Given the description of an element on the screen output the (x, y) to click on. 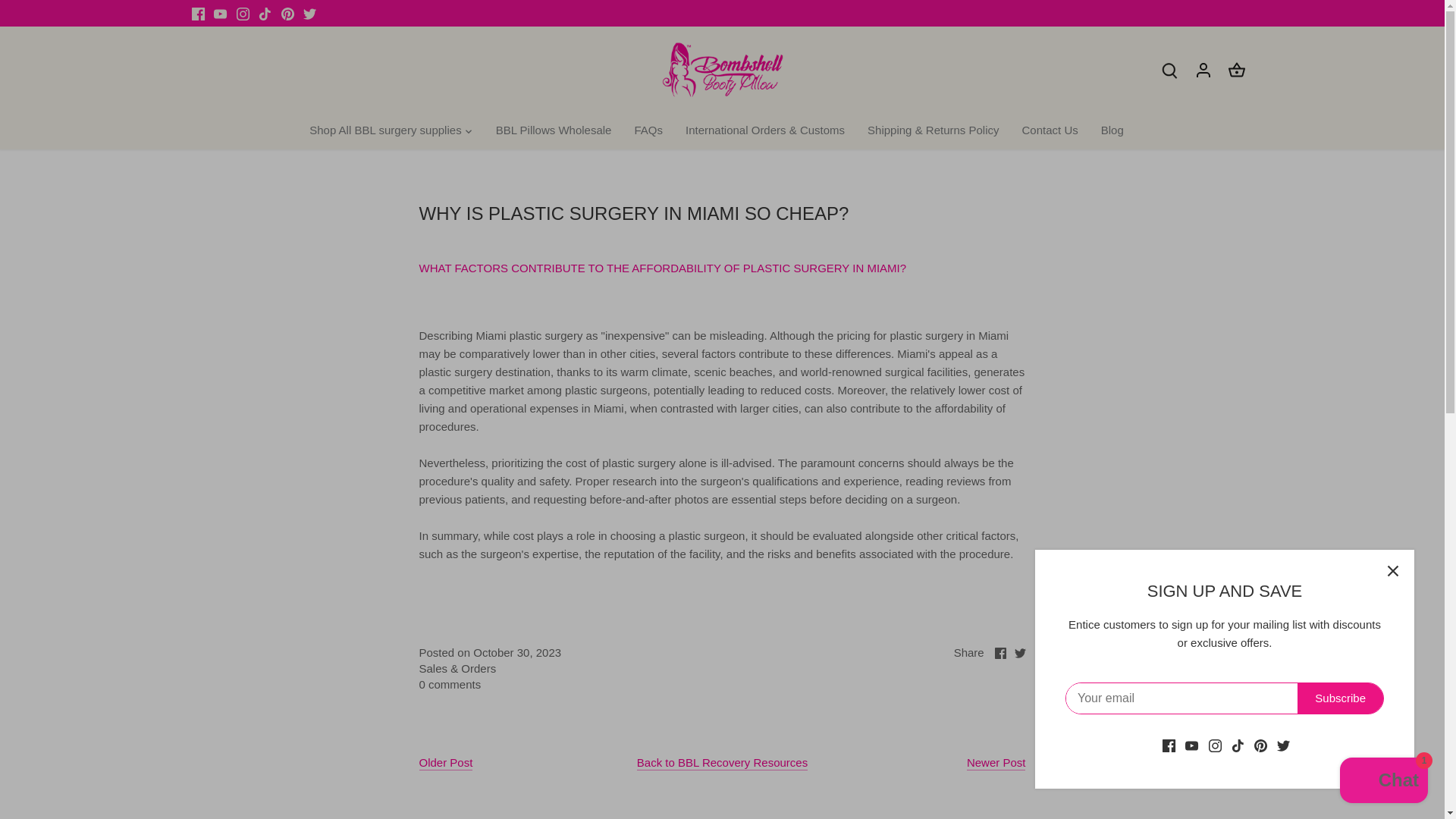
Twitter (308, 12)
Newer Post (996, 763)
Pinterest (287, 12)
Instagram (241, 13)
Youtube (220, 12)
Go to cart (1236, 69)
BBL Pillows Wholesale (553, 130)
Youtube (220, 13)
Facebook (196, 12)
Facebook (196, 13)
Twitter (1020, 653)
Facebook (1000, 653)
Shopify online store chat (1383, 781)
Shop All BBL surgery supplies (389, 130)
